Given the description of an element on the screen output the (x, y) to click on. 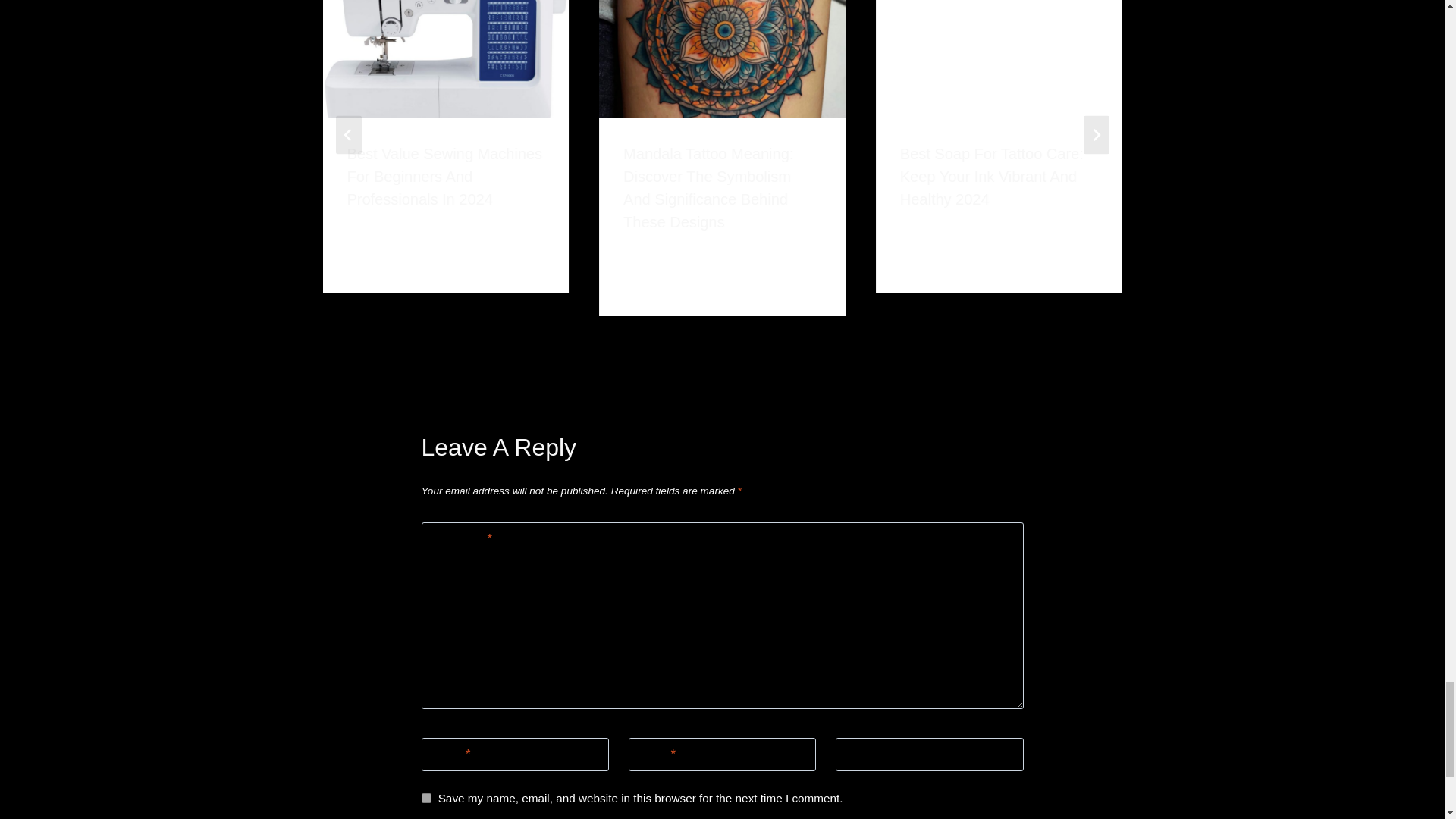
yes (426, 798)
